Given the description of an element on the screen output the (x, y) to click on. 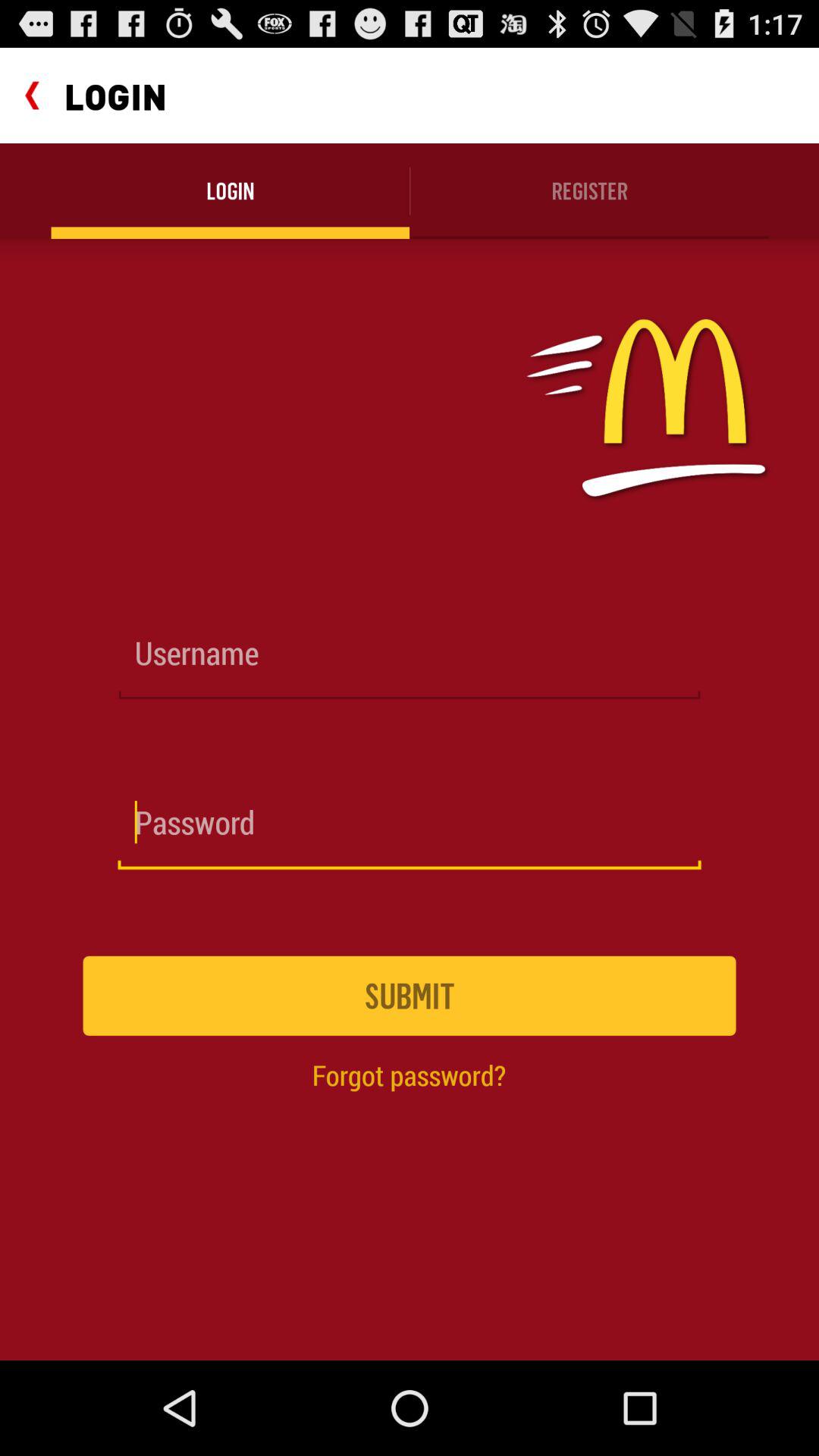
swipe until submit item (409, 995)
